Given the description of an element on the screen output the (x, y) to click on. 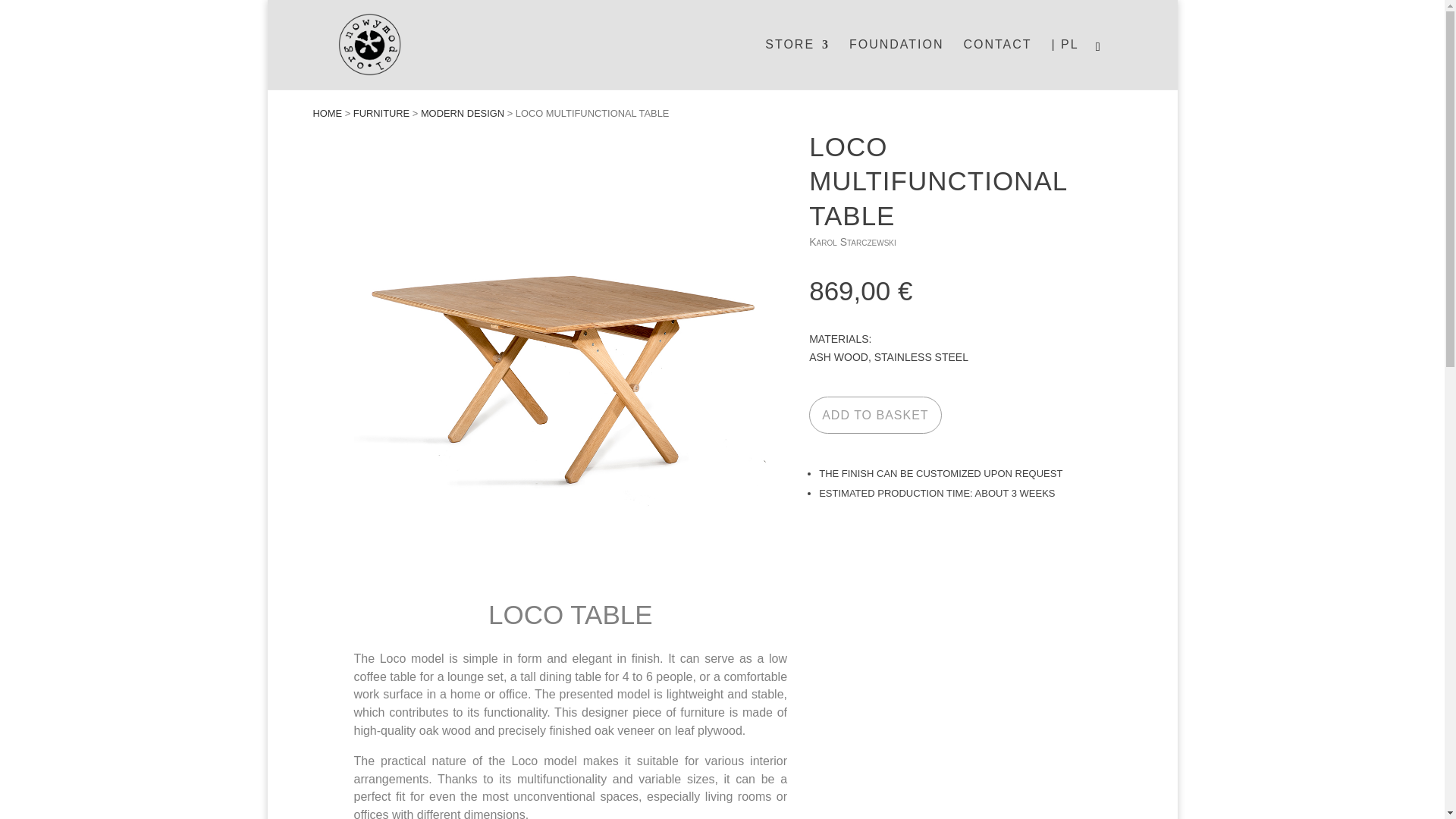
FOUNDATION (895, 64)
HOME (327, 112)
ADD TO BASKET (874, 415)
STORE (797, 64)
MODERN DESIGN (461, 112)
FURNITURE (381, 112)
CONTACT (996, 64)
